Given the description of an element on the screen output the (x, y) to click on. 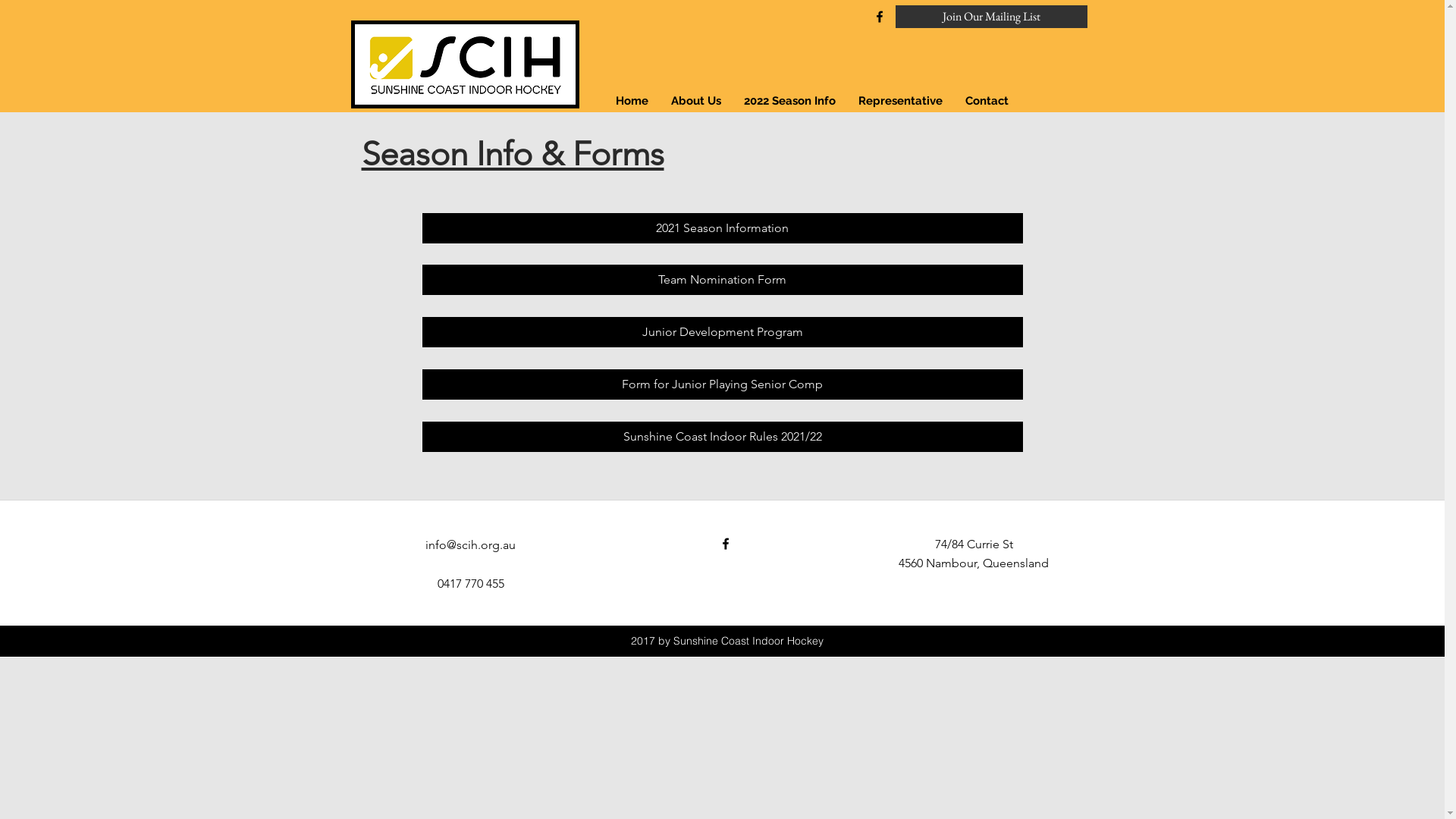
About Us Element type: text (695, 100)
info@scih.org.au Element type: text (470, 544)
2021 Season Information Element type: text (721, 228)
Representative Element type: text (899, 100)
Join Our Mailing List Element type: text (990, 16)
Contact Element type: text (986, 100)
Home Element type: text (630, 100)
2022 Season Info Element type: text (789, 100)
